Given the description of an element on the screen output the (x, y) to click on. 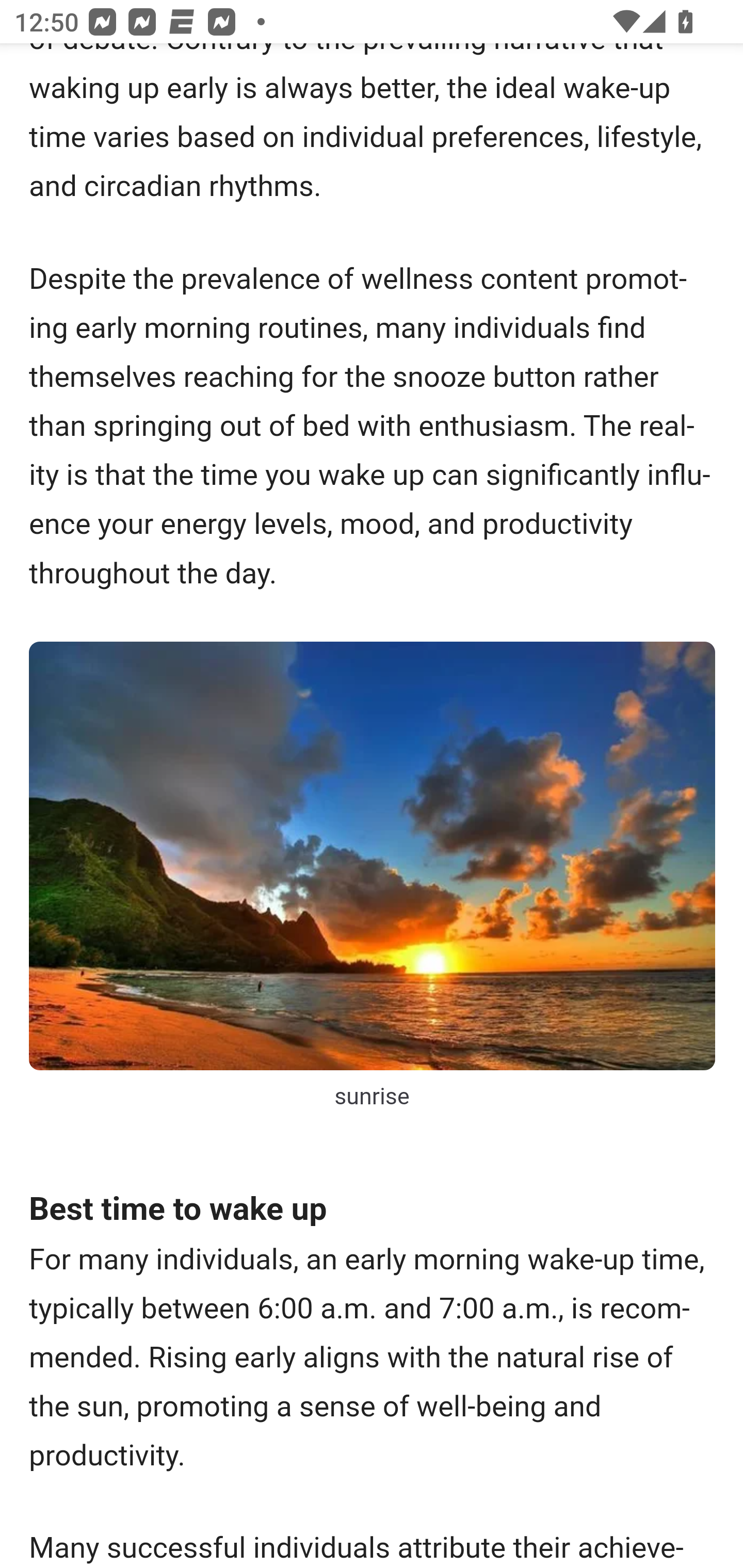
sunrise (372, 857)
